Given the description of an element on the screen output the (x, y) to click on. 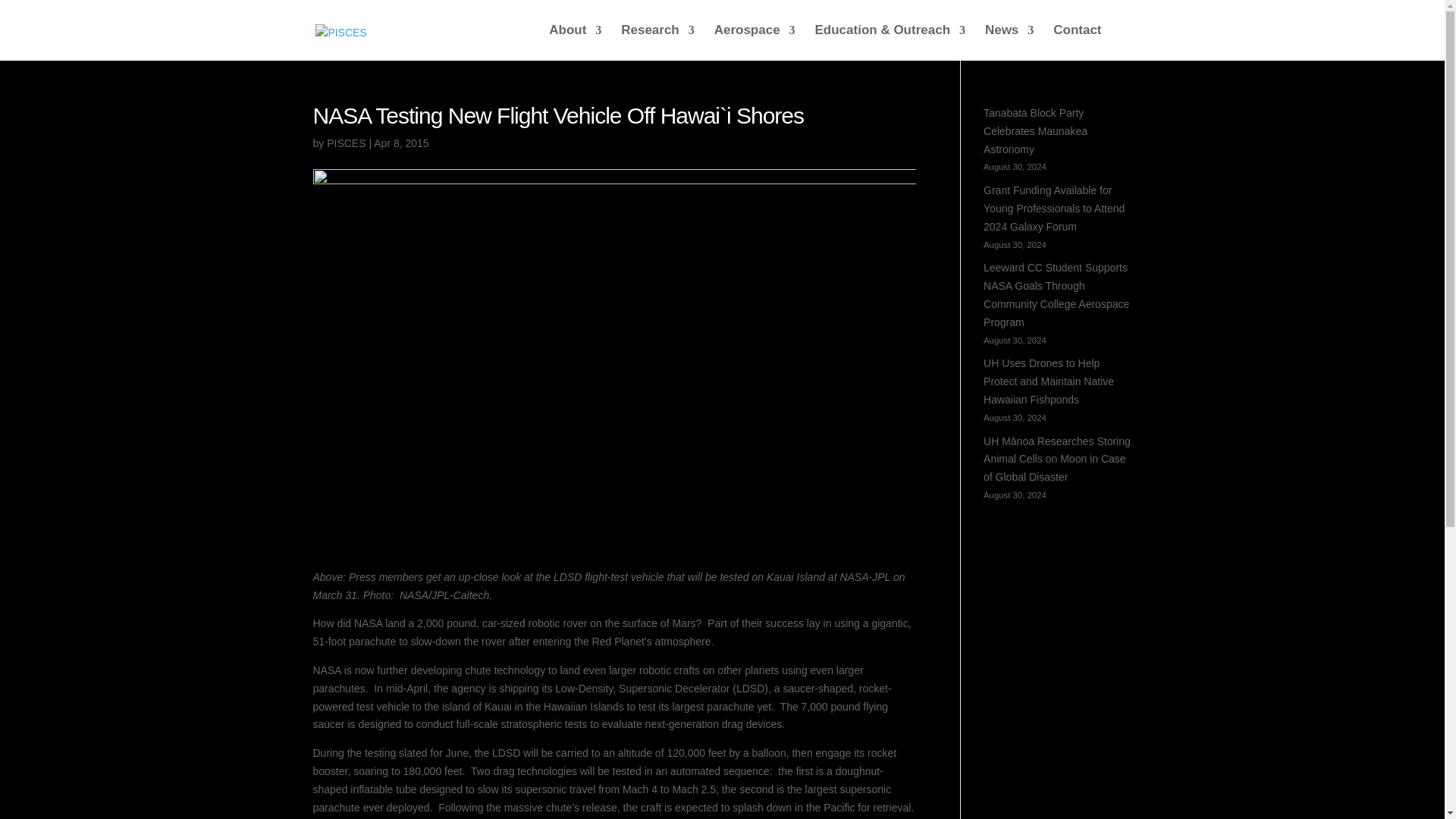
Research (657, 42)
About (574, 42)
Posts by PISCES (345, 143)
News (1009, 42)
Contact (1076, 42)
Tanabata Block Party Celebrates Maunakea Astronomy (1035, 131)
PISCES (345, 143)
